Given the description of an element on the screen output the (x, y) to click on. 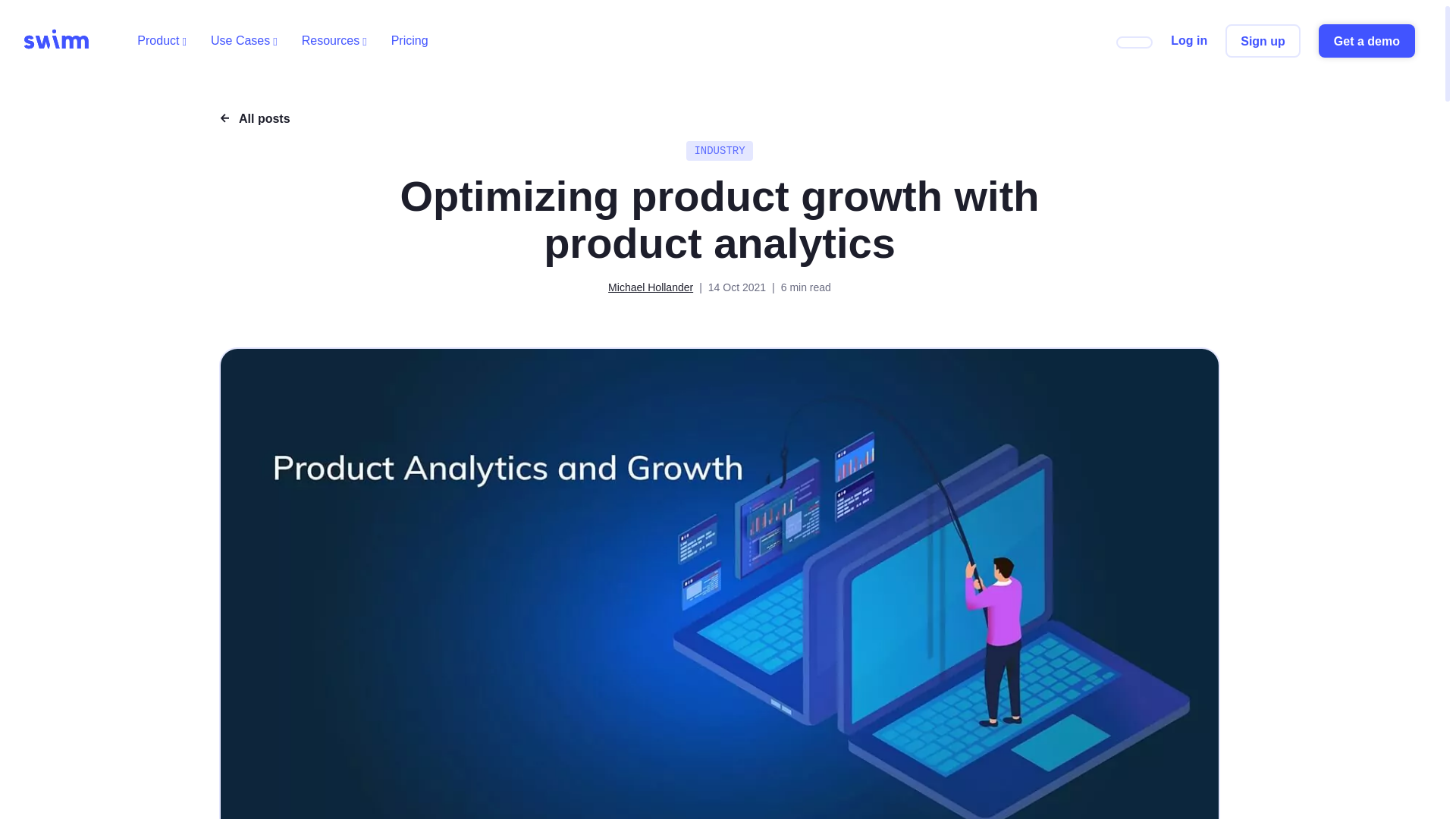
Swimm (56, 40)
